Given the description of an element on the screen output the (x, y) to click on. 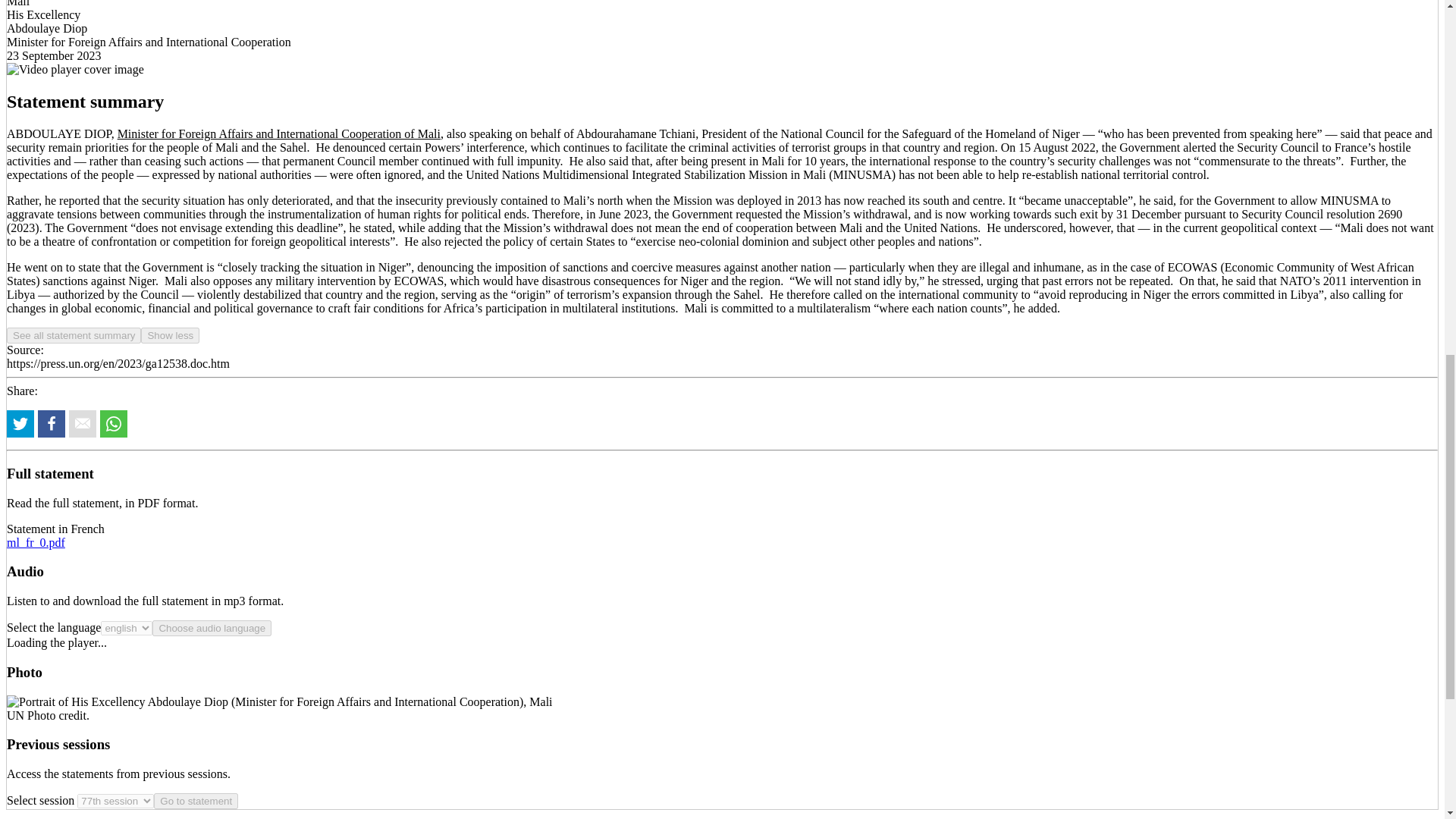
Share this page on Twitter (20, 423)
Share this page on Facebook (51, 423)
Share this page on WhatsApp (114, 423)
Share this page by email (82, 423)
